Given the description of an element on the screen output the (x, y) to click on. 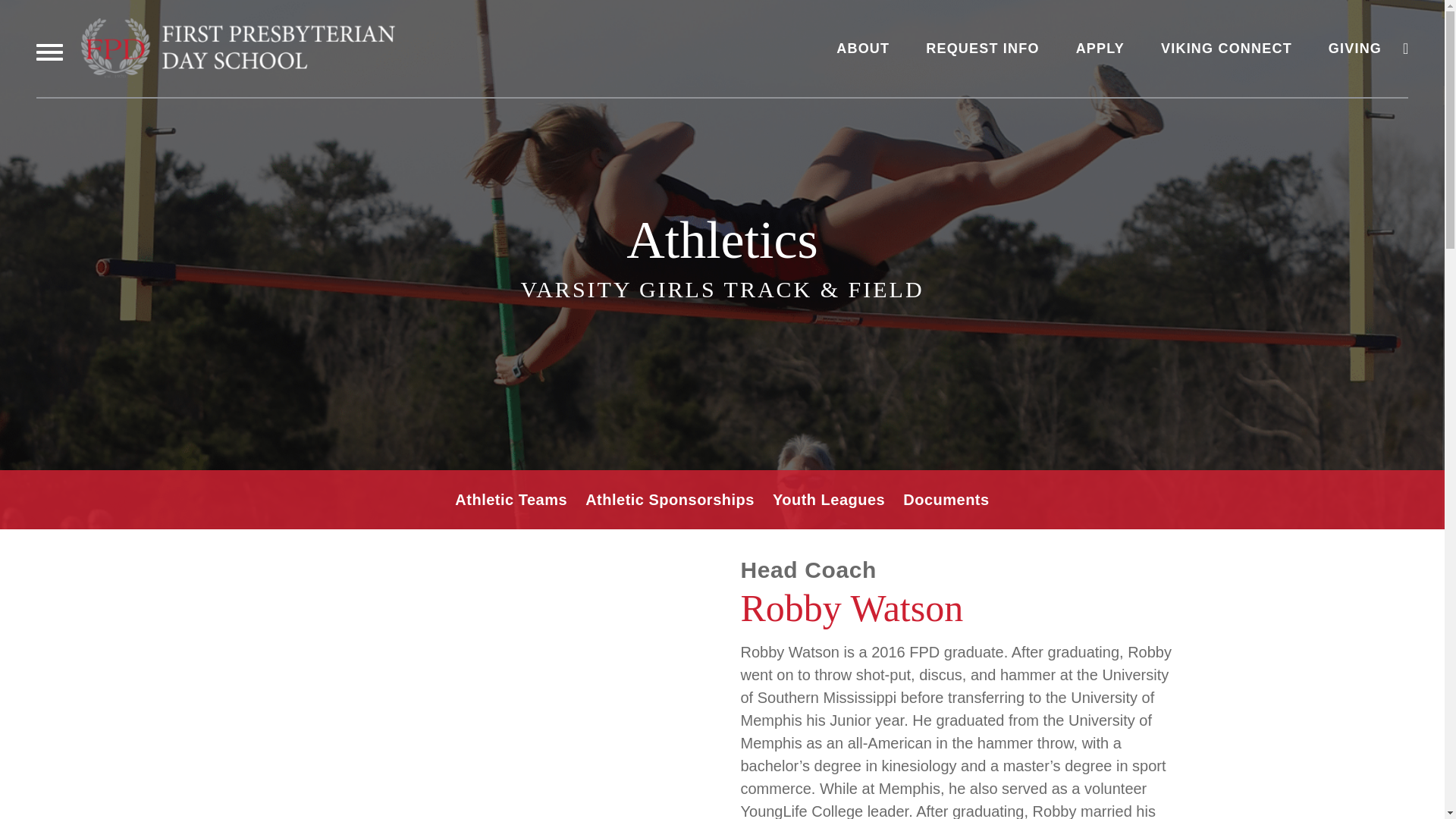
ABOUT (862, 48)
Documents (945, 499)
REQUEST INFO (982, 48)
GIVING (1354, 48)
Youth Leagues (829, 499)
VIKING CONNECT (1226, 48)
Athletic Sponsorships (669, 499)
Athletic Teams (510, 499)
APPLY (1099, 48)
